Given the description of an element on the screen output the (x, y) to click on. 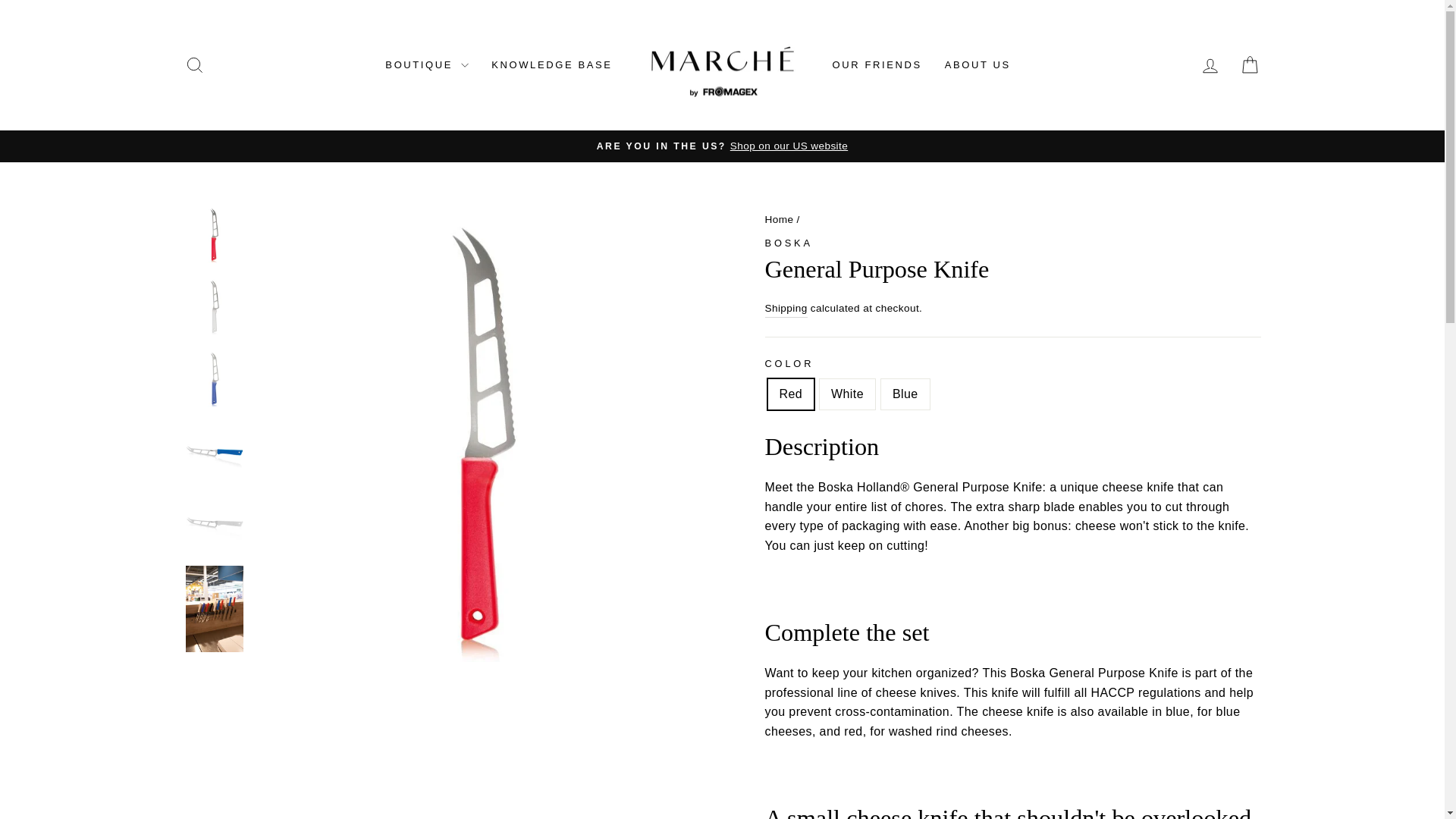
Blue (194, 65)
Boska (194, 65)
ACCOUNT (788, 242)
Back to the frontpage (1210, 65)
Red (778, 219)
